Given the description of an element on the screen output the (x, y) to click on. 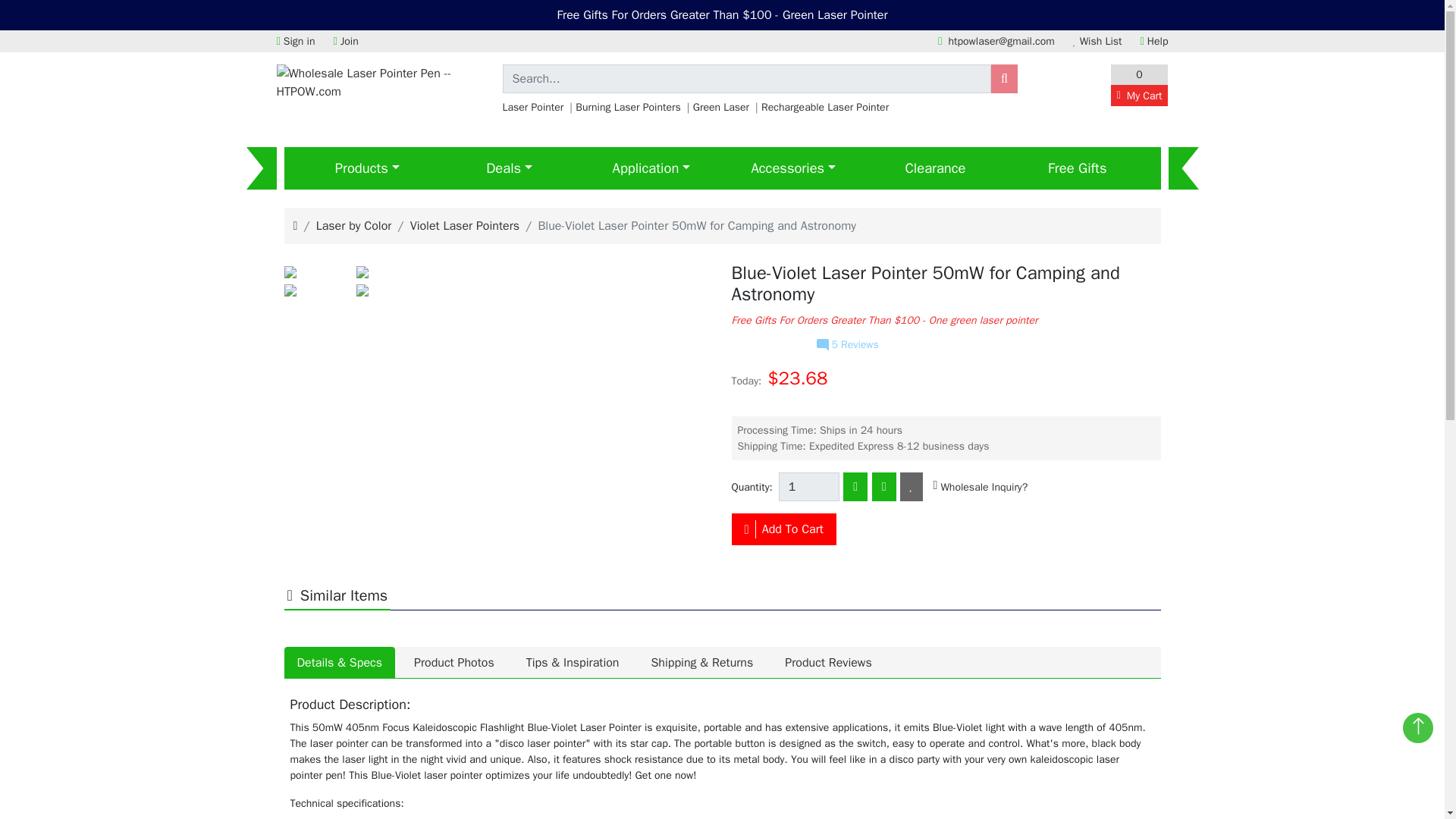
Wish List (1097, 41)
Sign in (295, 41)
Burning Laser Pointers (624, 107)
Laser Pointer (532, 107)
Rechargeable Laser Pointer (821, 107)
Join (345, 41)
Products (366, 168)
My Cart (1139, 95)
htpow.com (382, 82)
Help (1154, 41)
